Given the description of an element on the screen output the (x, y) to click on. 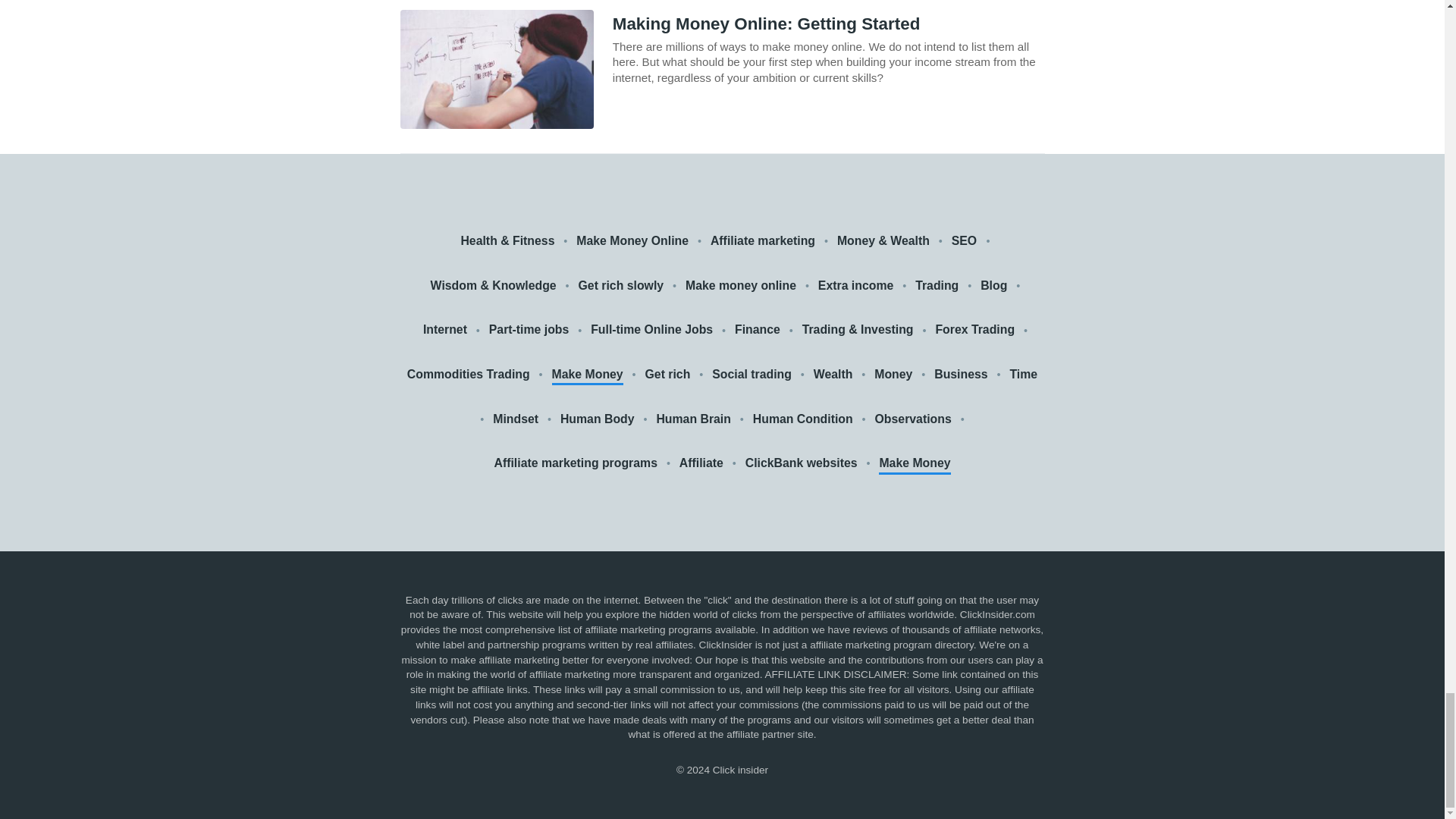
Get rich (667, 374)
Finance (757, 330)
Wealth (833, 374)
SEO (965, 240)
Social trading (751, 374)
Affiliate marketing (762, 240)
Blog (993, 285)
Mindset (515, 419)
Business (960, 374)
